Given the description of an element on the screen output the (x, y) to click on. 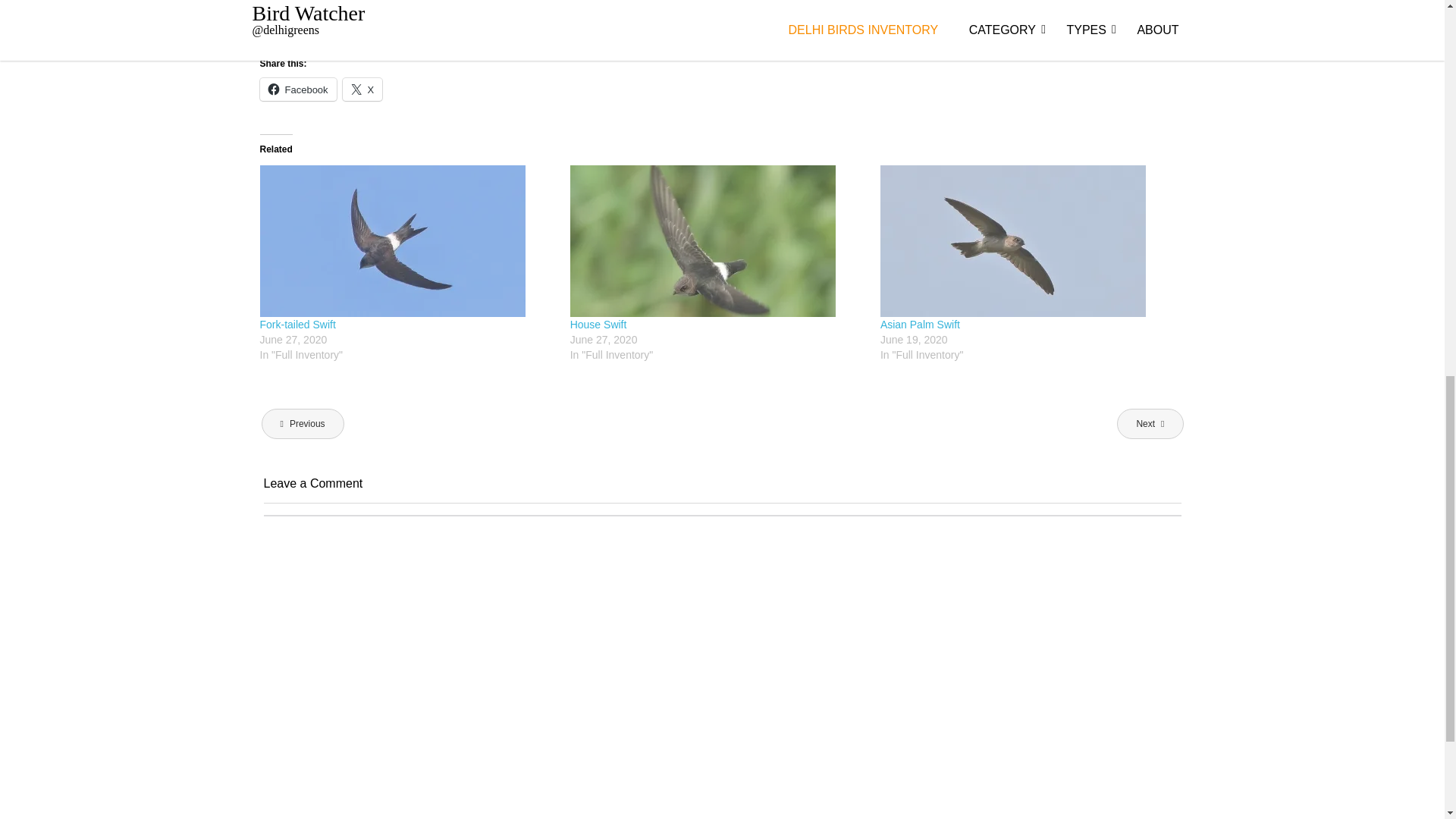
Fork-tailed Swift (296, 324)
House Swift (598, 324)
Click to share on Facebook (297, 88)
Lefteris Stavrakas (452, 2)
Fork-tailed Swift (406, 240)
Fork-tailed Swift (296, 324)
Facebook (297, 88)
Next (1149, 423)
X (362, 88)
